Given the description of an element on the screen output the (x, y) to click on. 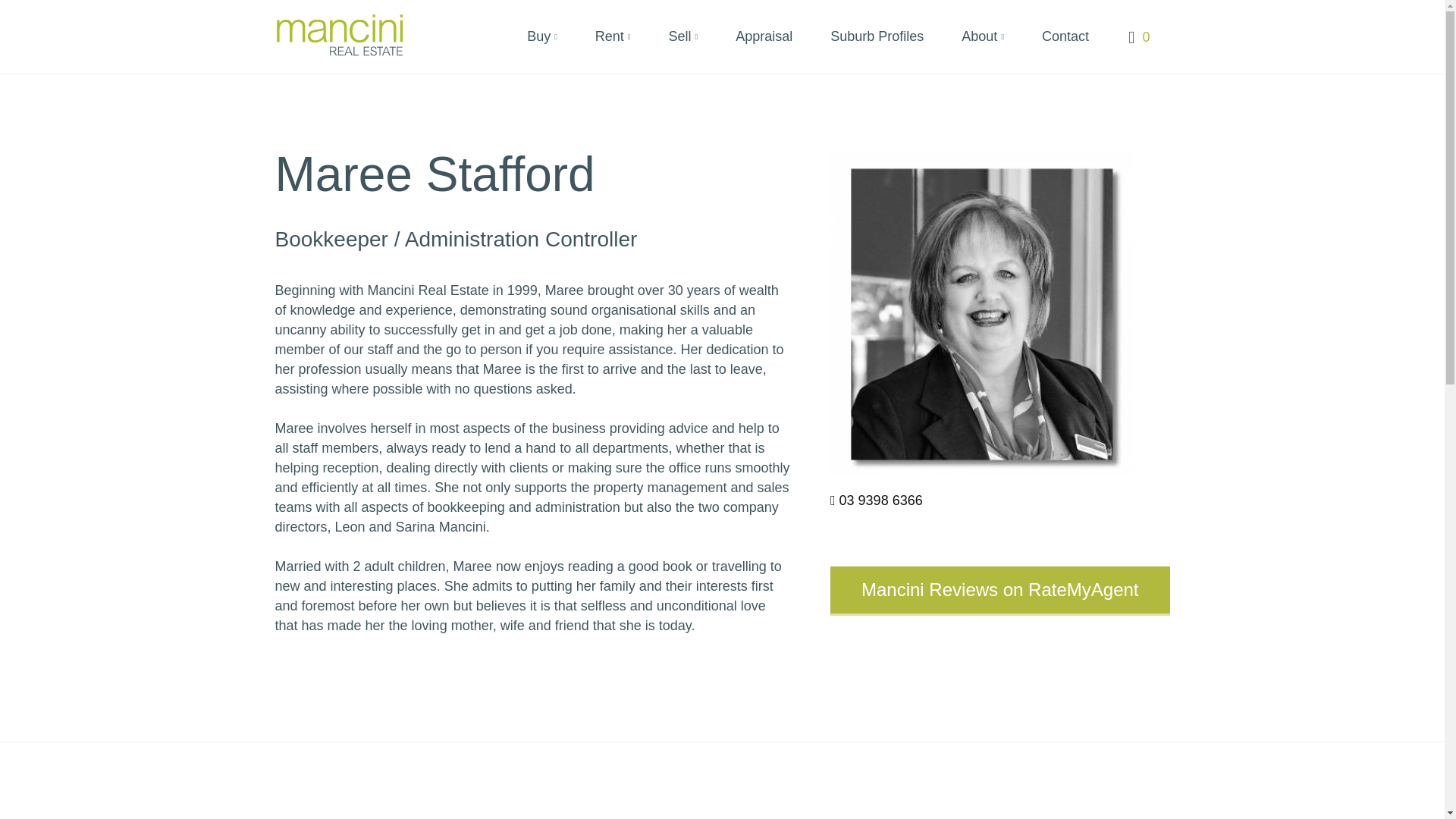
Contact Element type: text (1061, 42)
03 9398 6366 Element type: text (880, 500)
0 Element type: text (1136, 33)
Rent Element type: text (609, 42)
Mancini Reviews on RateMyAgent Element type: text (1000, 589)
Sell Element type: text (679, 42)
About Element type: text (978, 42)
Buy Element type: text (538, 42)
Appraisal Element type: text (759, 42)
Suburb Profiles Element type: text (872, 42)
